Given the description of an element on the screen output the (x, y) to click on. 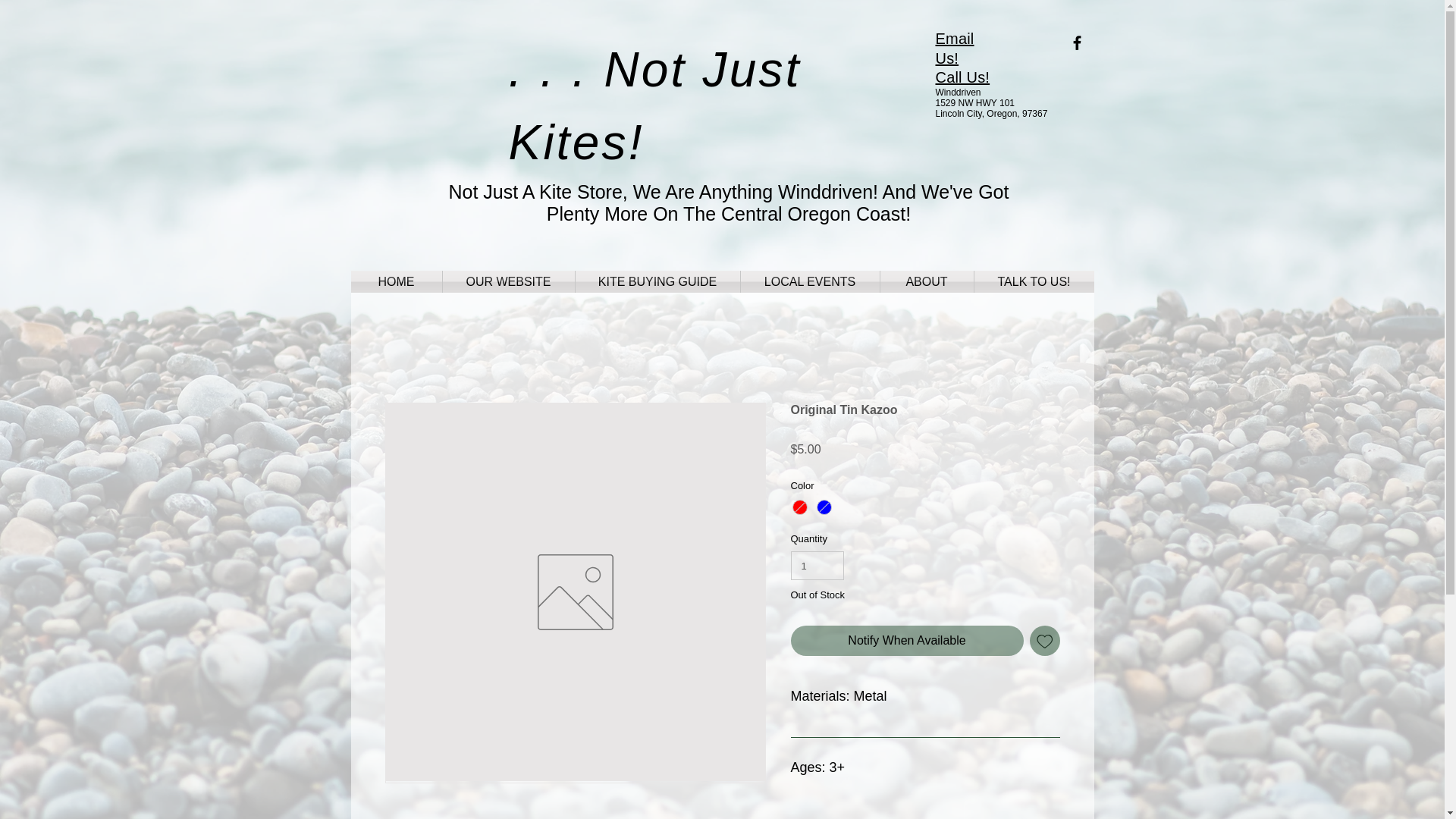
. . . Not Just Kites! (654, 105)
Email Us! (955, 48)
LOCAL EVENTS (809, 281)
KITE BUYING GUIDE (657, 281)
1 (817, 565)
OUR WEBSITE (508, 281)
Call Us! (963, 76)
HOME (395, 281)
TALK TO US! (1033, 281)
ABOUT (925, 281)
Notify When Available (906, 640)
